Given the description of an element on the screen output the (x, y) to click on. 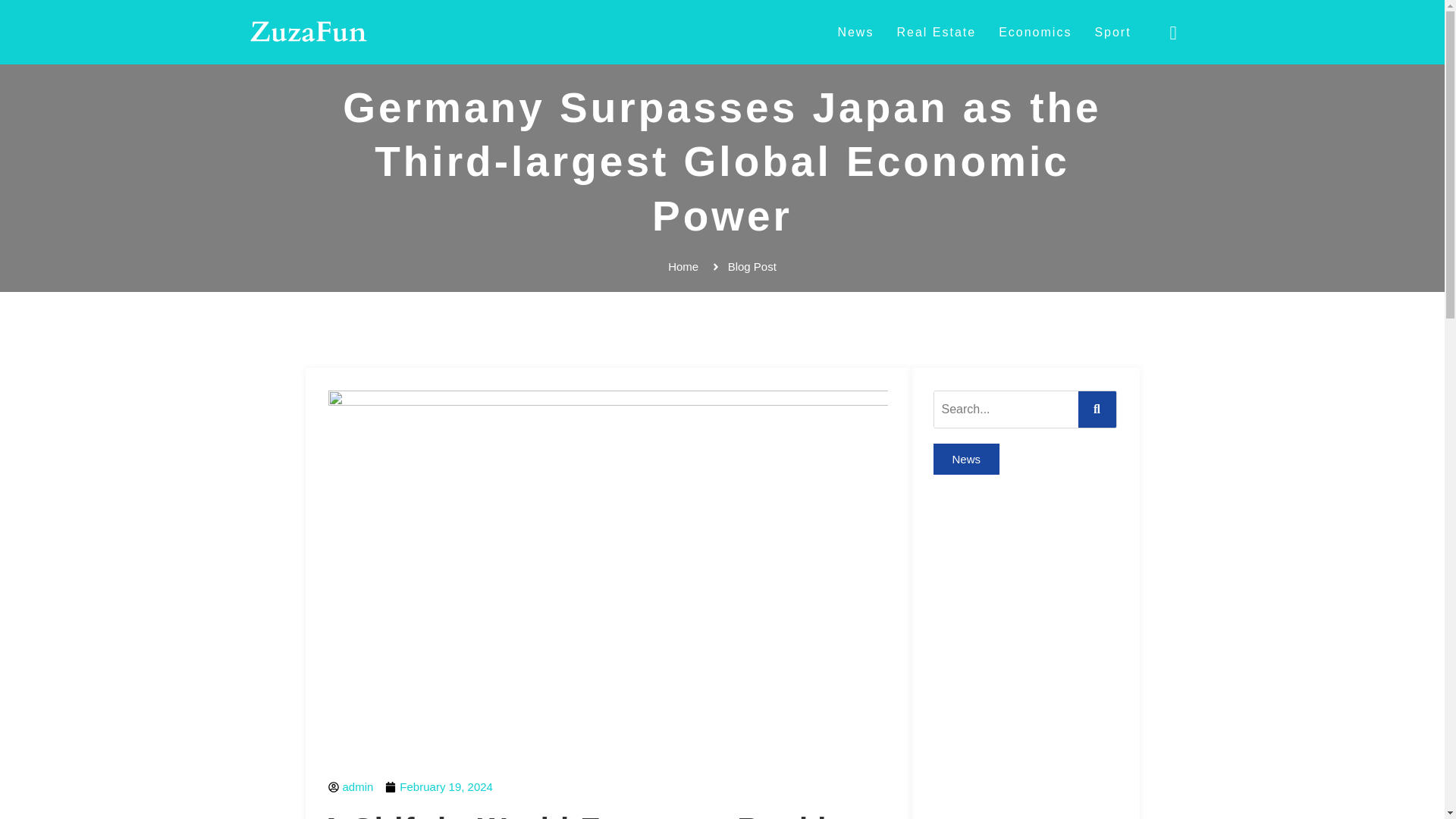
admin (349, 787)
News (965, 459)
Sport (1112, 32)
Real Estate (936, 32)
Blog Post (743, 267)
News (855, 32)
February 19, 2024 (439, 787)
Home (683, 267)
Search (1006, 409)
Economics (1035, 32)
